Given the description of an element on the screen output the (x, y) to click on. 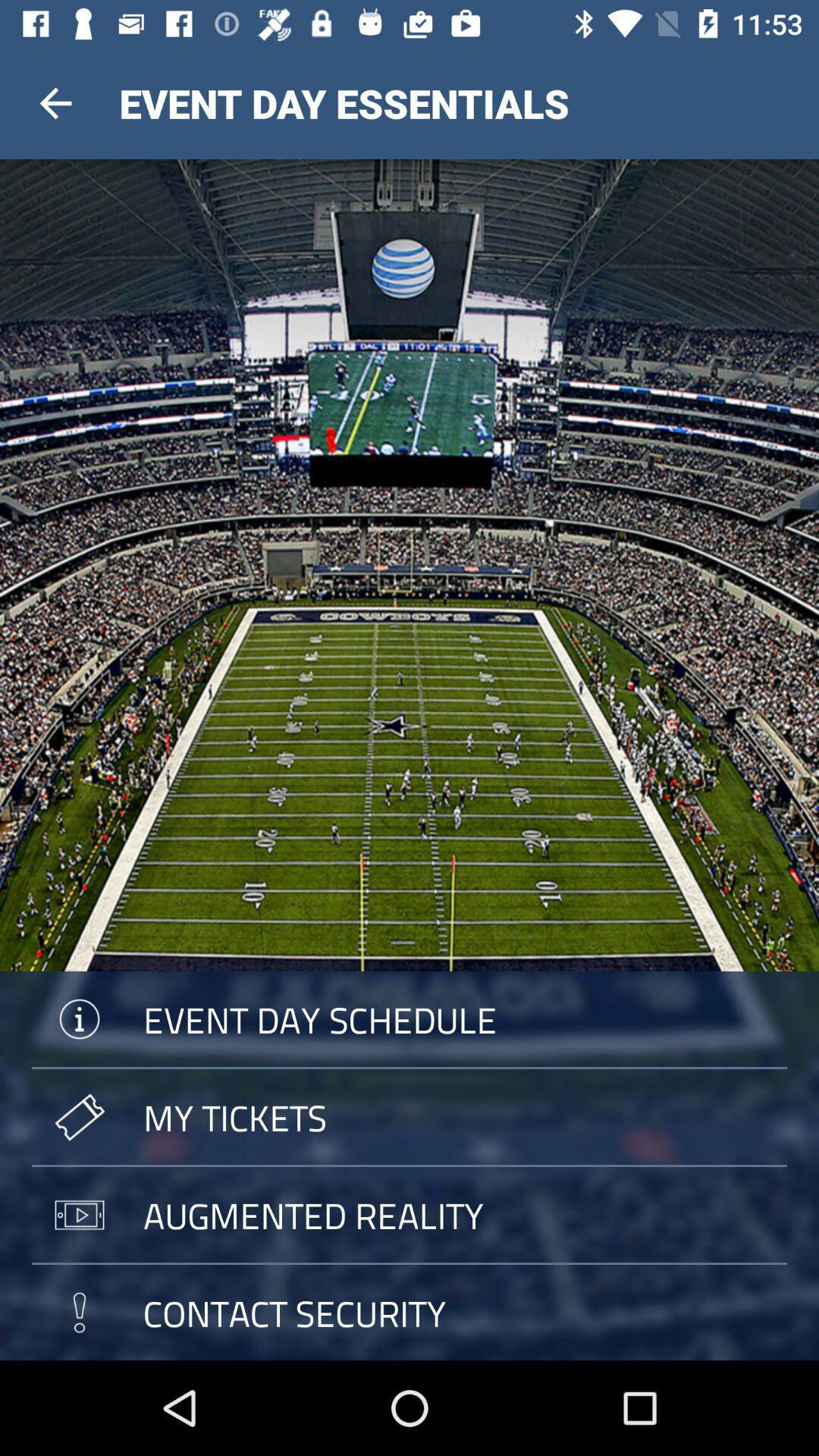
jump to my tickets (409, 1116)
